Given the description of an element on the screen output the (x, y) to click on. 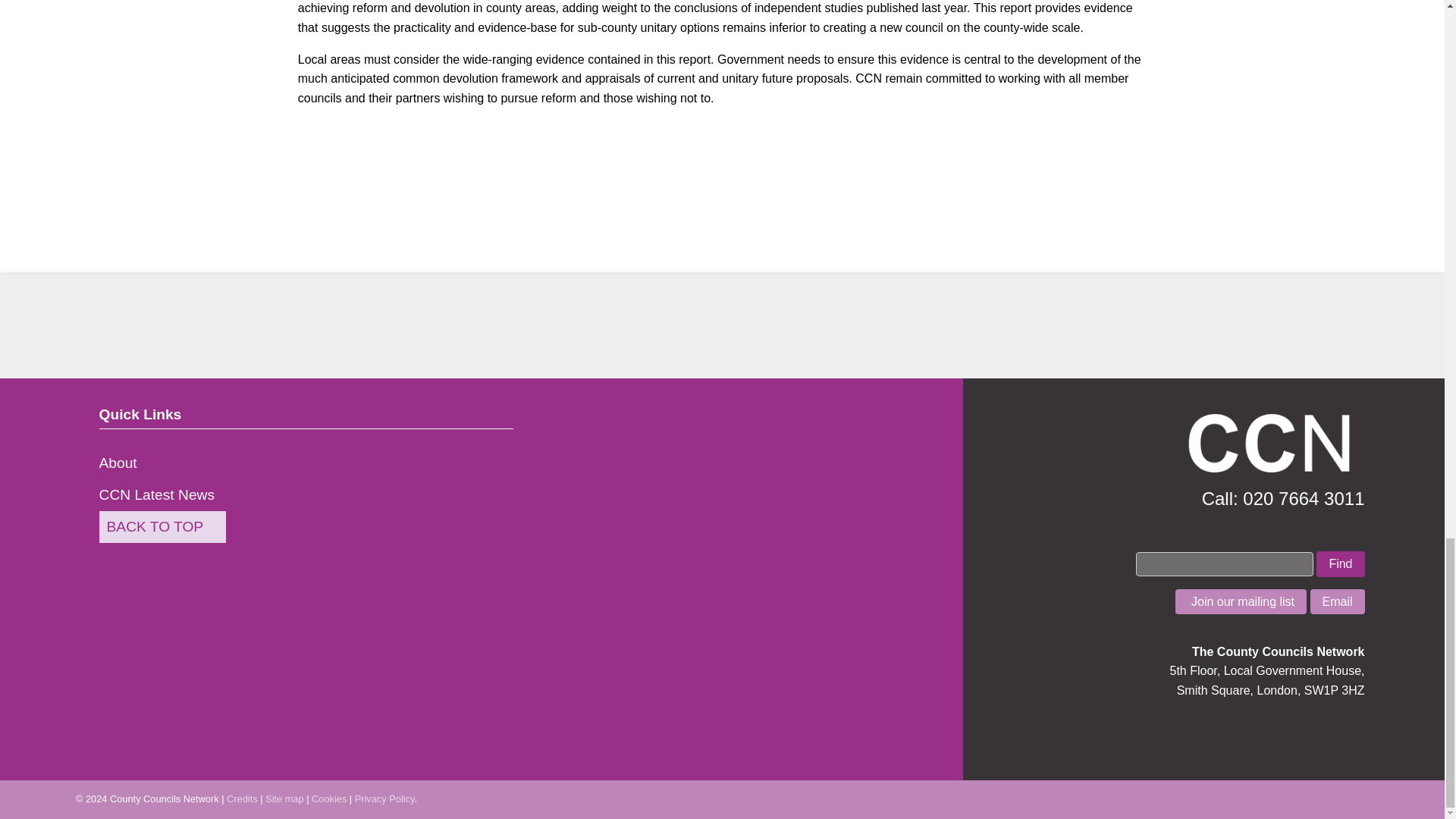
Find (1340, 564)
